Given the description of an element on the screen output the (x, y) to click on. 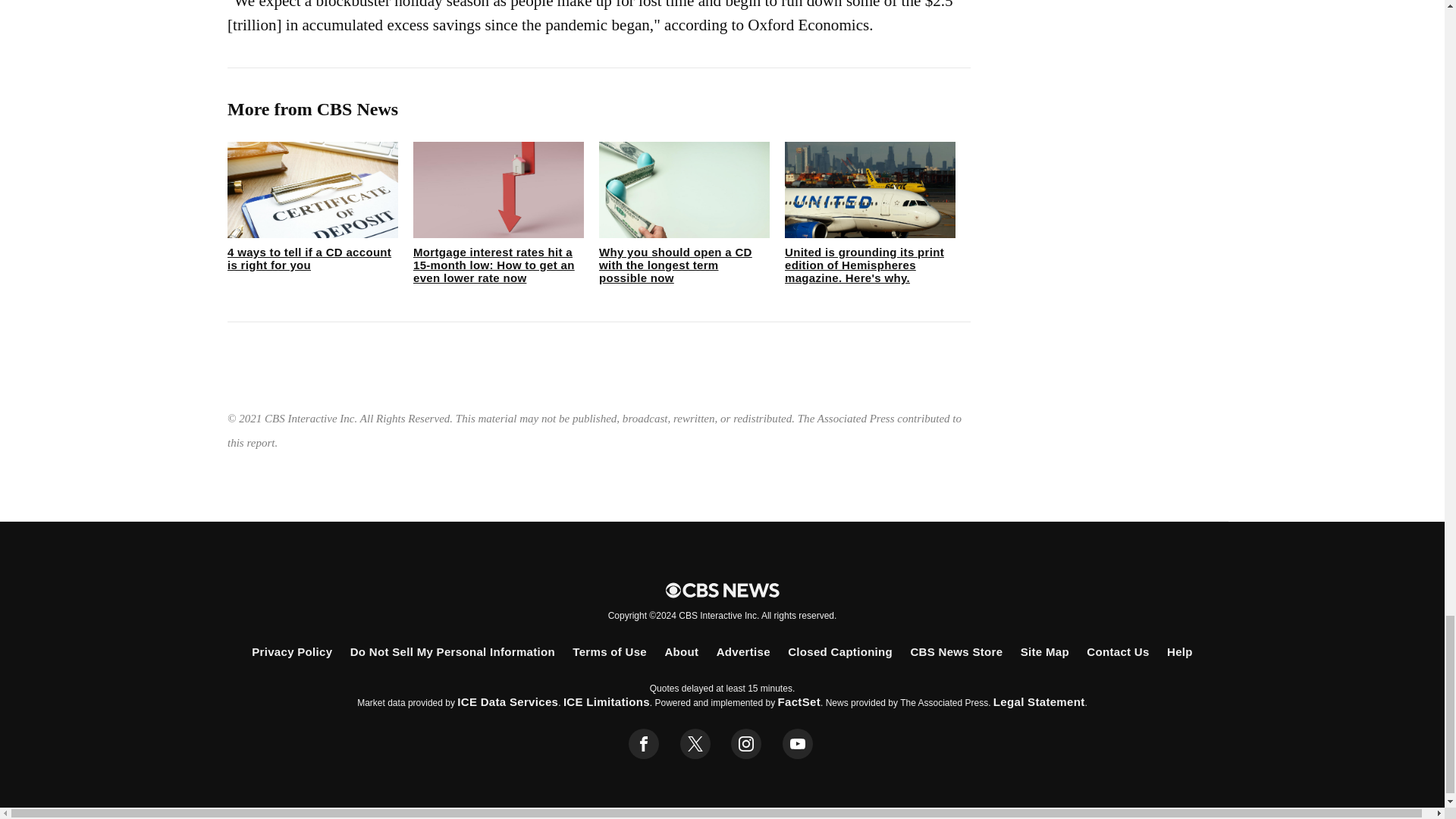
instagram (745, 743)
facebook (643, 743)
twitter (694, 743)
youtube (797, 743)
